Given the description of an element on the screen output the (x, y) to click on. 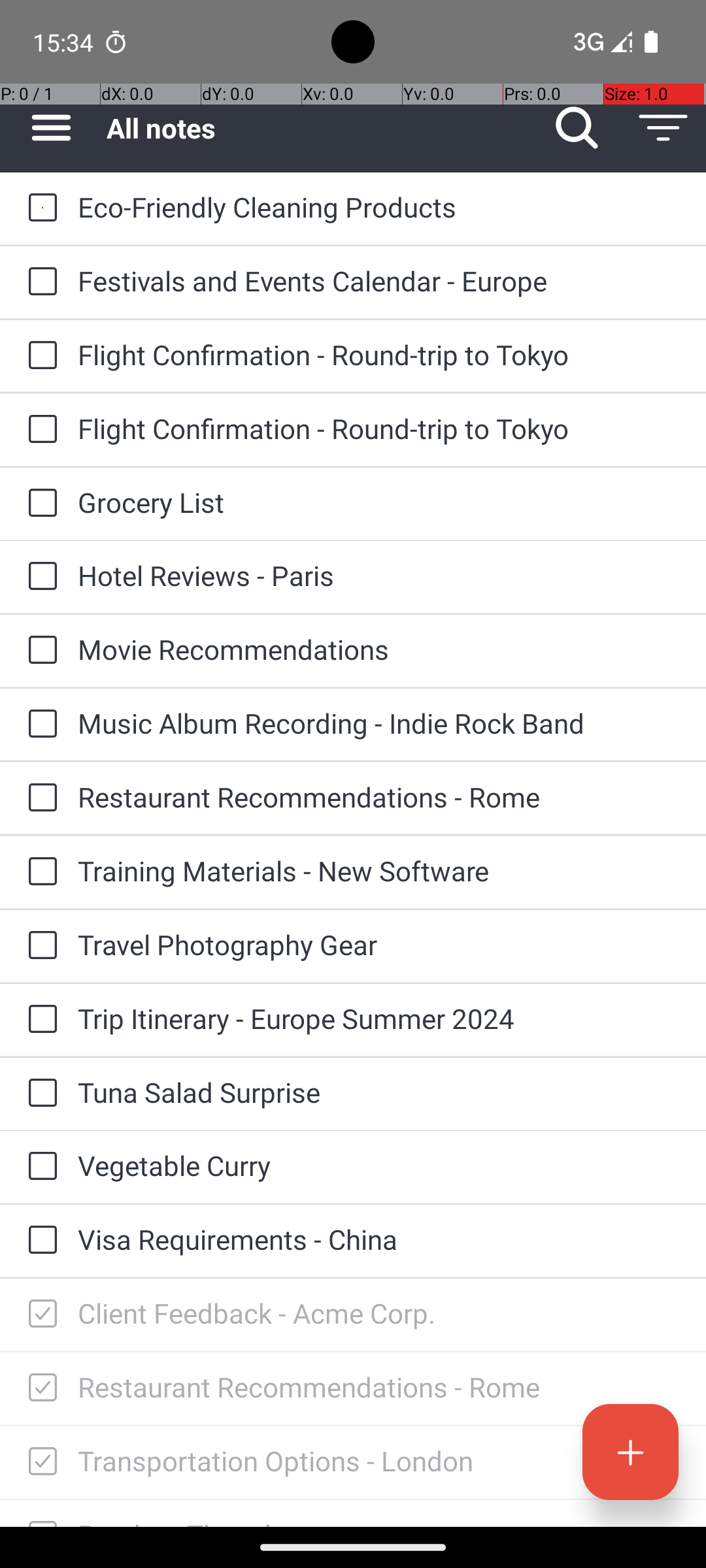
to-do: Eco-Friendly Cleaning Products Element type: android.widget.CheckBox (38, 208)
to-do: Festivals and Events Calendar - Europe Element type: android.widget.CheckBox (38, 282)
Festivals and Events Calendar - Europe Element type: android.widget.TextView (378, 280)
to-do: Flight Confirmation - Round-trip to Tokyo Element type: android.widget.CheckBox (38, 356)
to-do: Movie Recommendations Element type: android.widget.CheckBox (38, 650)
Movie Recommendations Element type: android.widget.TextView (378, 648)
to-do: Training Materials - New Software Element type: android.widget.CheckBox (38, 872)
Training Materials - New Software Element type: android.widget.TextView (378, 870)
to-do: Travel Photography Gear Element type: android.widget.CheckBox (38, 945)
Travel Photography Gear Element type: android.widget.TextView (378, 944)
to-do: Trip Itinerary - Europe Summer 2024 Element type: android.widget.CheckBox (38, 1019)
Trip Itinerary - Europe Summer 2024 Element type: android.widget.TextView (378, 1017)
to-do: Tuna Salad Surprise Element type: android.widget.CheckBox (38, 1093)
Tuna Salad Surprise Element type: android.widget.TextView (378, 1091)
to-do: Vegetable Curry Element type: android.widget.CheckBox (38, 1166)
Vegetable Curry Element type: android.widget.TextView (378, 1164)
to-do: Visa Requirements - China Element type: android.widget.CheckBox (38, 1240)
Visa Requirements - China Element type: android.widget.TextView (378, 1238)
to-do: Transportation Options - London Element type: android.widget.CheckBox (38, 1462)
Transportation Options - London Element type: android.widget.TextView (378, 1460)
to-do: Random Thoughts Element type: android.widget.CheckBox (38, 1513)
